Given the description of an element on the screen output the (x, y) to click on. 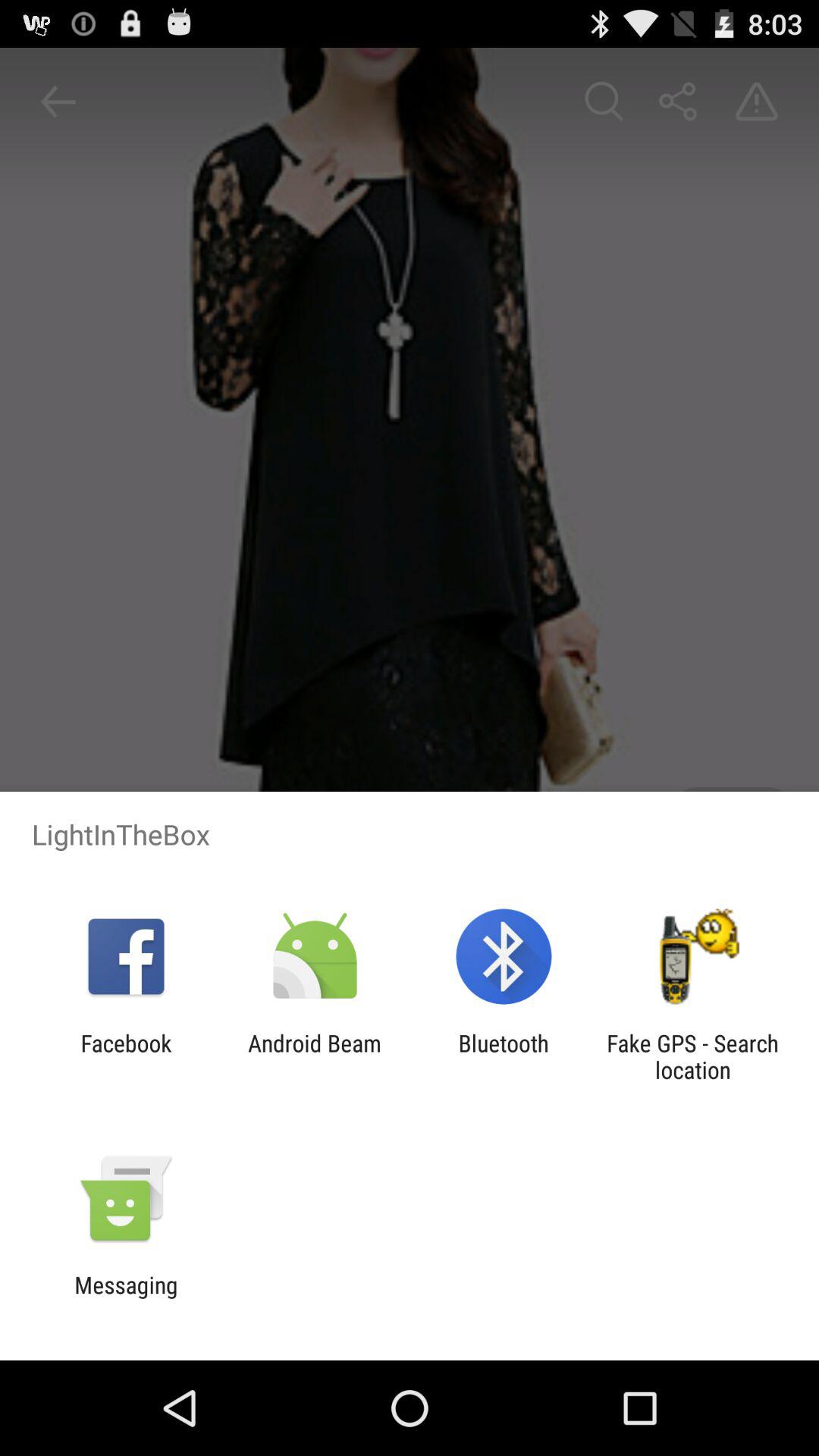
flip until bluetooth (503, 1056)
